Given the description of an element on the screen output the (x, y) to click on. 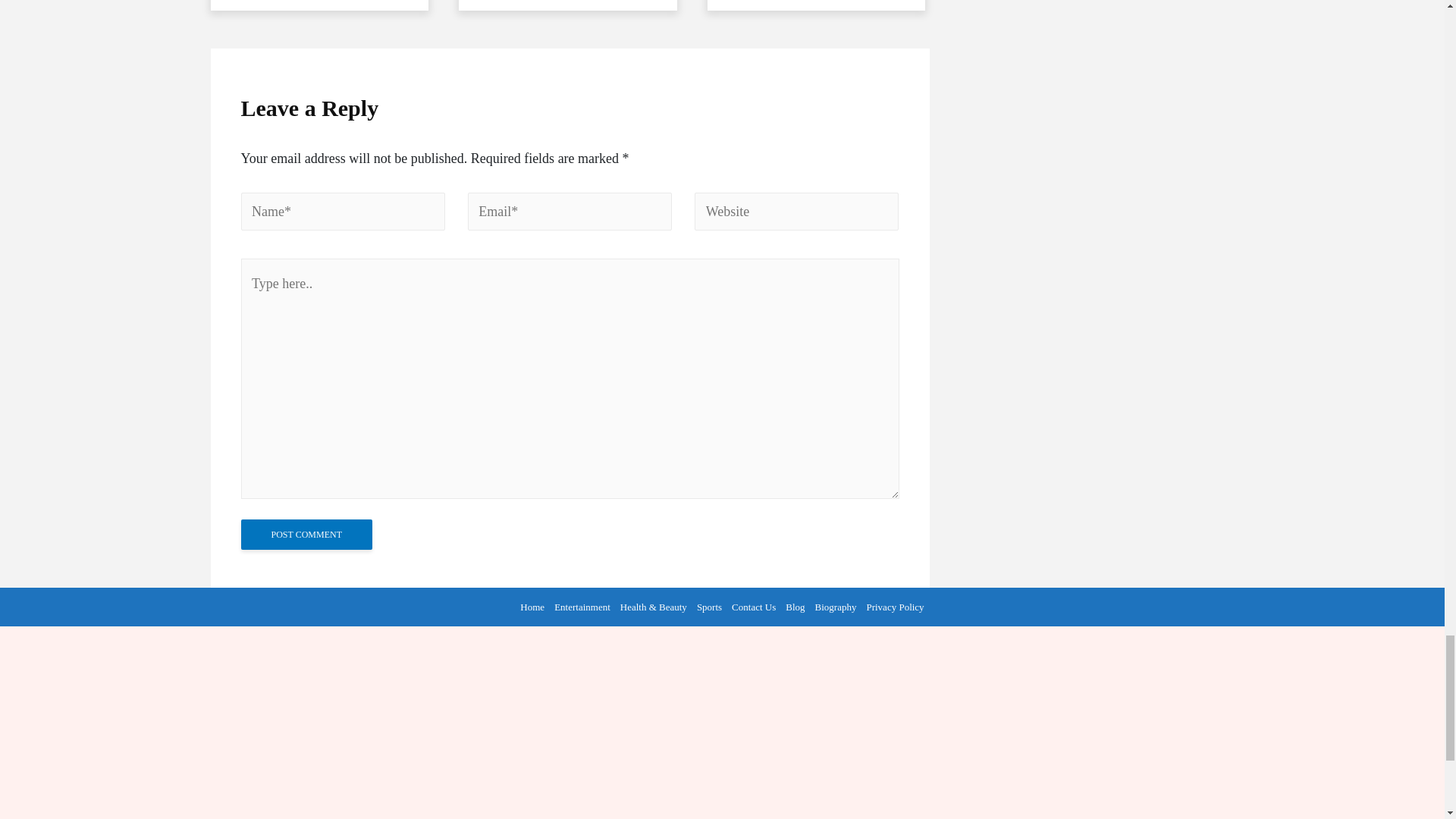
Post Comment (306, 534)
Post Comment (306, 534)
